Given the description of an element on the screen output the (x, y) to click on. 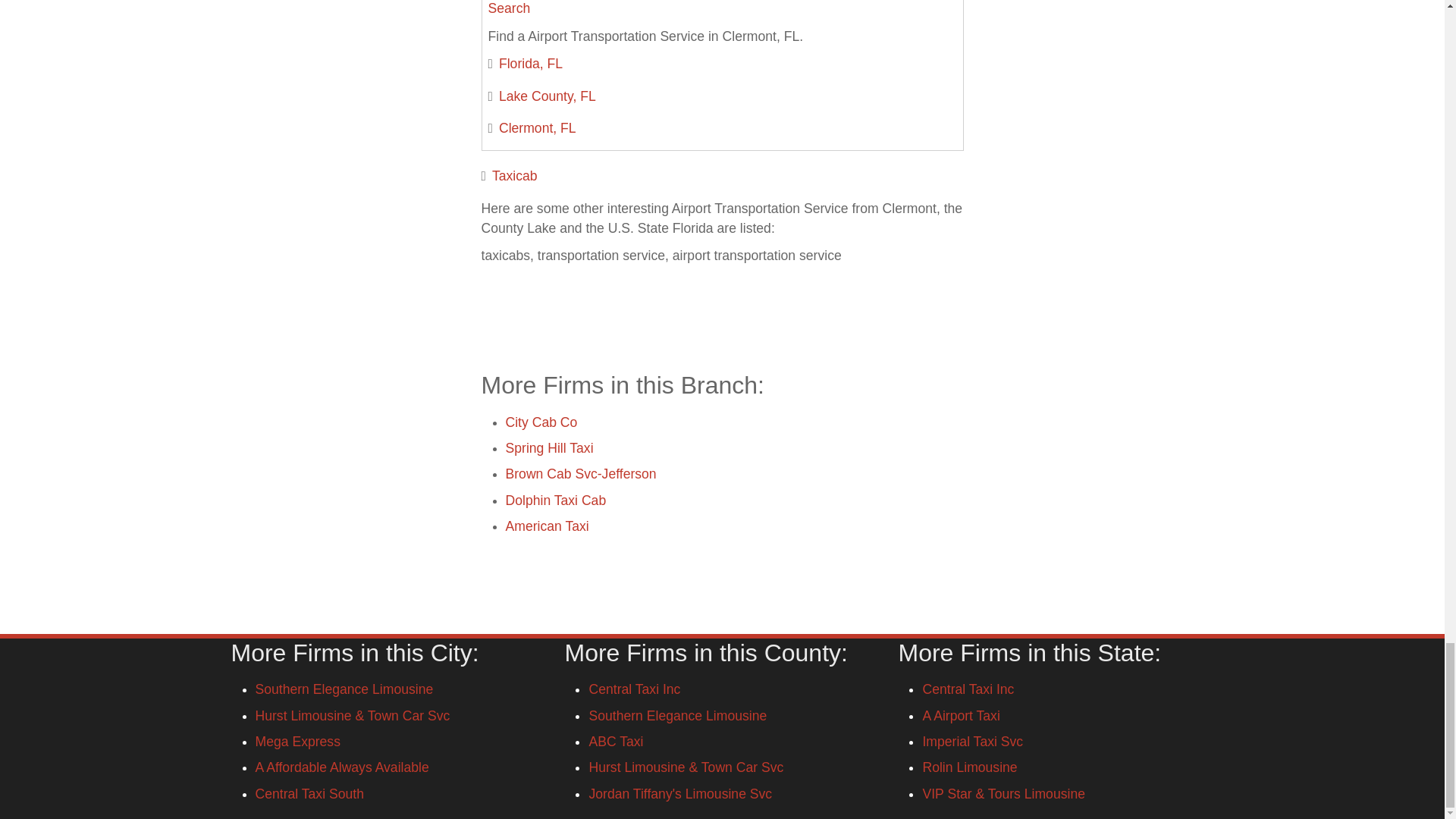
City Cab Co (540, 421)
Search (509, 7)
Taxicab (514, 175)
Clermont, FL (537, 127)
Lake County, FL (547, 96)
Brown Cab Svc-Jefferson (580, 473)
American Taxi (546, 525)
Spring Hill Taxi (548, 447)
Florida, FL (530, 63)
Dolphin Taxi Cab (555, 500)
